Given the description of an element on the screen output the (x, y) to click on. 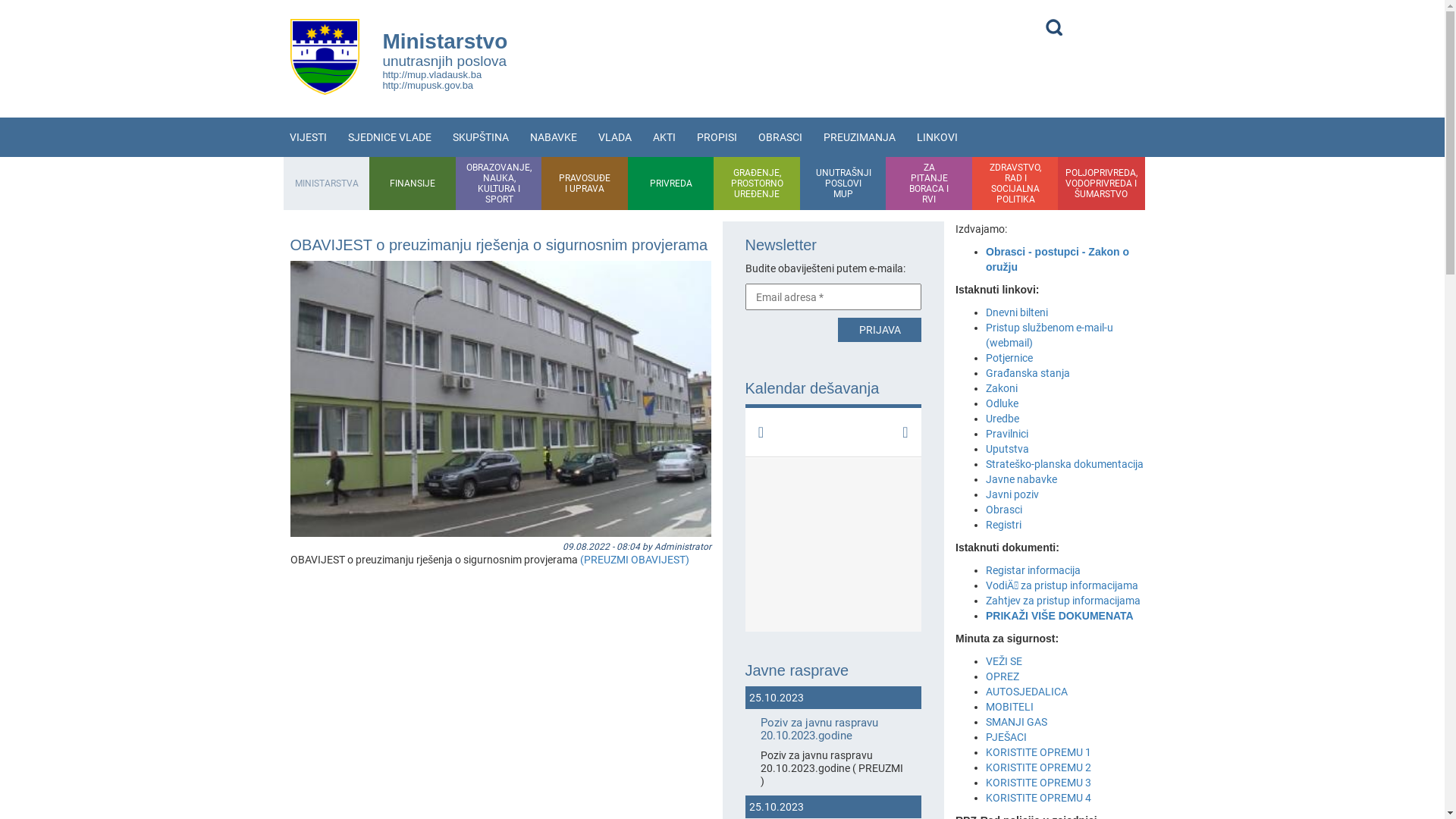
ZDRAVSTVO, RAD I SOCIJALNA POLITIKA Element type: text (1015, 183)
PROPISI Element type: text (715, 136)
Zakoni Element type: text (1001, 388)
KORISTITE OPREMU 1 Element type: text (1038, 752)
Javne rasprave Element type: text (832, 670)
KORISTITE OPREMU 4 Element type: text (1038, 797)
OPREZ Element type: text (1002, 676)
Obrasci Element type: text (1003, 509)
KORISTITE OPREMU 3 Element type: text (1038, 782)
Pravilnici Element type: text (1006, 433)
Dnevni bilteni Element type: text (1016, 312)
LINKOVI Element type: text (936, 136)
OBRASCI Element type: text (779, 136)
(PREUZMI OBAVIJEST) Element type: text (633, 559)
FINANSIJE Element type: text (412, 183)
ZA PITANJE BORACA I RVI Element type: text (928, 183)
http://mup.vladausk.ba
http://mupusk.gov.ba Element type: text (431, 80)
SJEDNICE VLADE Element type: text (388, 136)
Registar informacija Element type: text (1032, 570)
Zahtjev za pristup informacijama  Element type: text (1063, 600)
SMANJI GAS Element type: text (1016, 721)
MINISTARSTVA Element type: text (326, 183)
KORISTITE OPREMU 2 Element type: text (1038, 767)
OBRAZOVANJE, NAUKA, KULTURA I SPORT Element type: text (498, 183)
Javne nabavke Element type: text (1021, 479)
Odluke Element type: text (1001, 403)
PREUZIMANJA Element type: text (859, 136)
PRIVREDA Element type: text (670, 183)
Poziv za javnu raspravu 20.10.2023.godine Element type: text (832, 728)
Registri Element type: text (1003, 524)
PRIJAVA Element type: text (879, 329)
NABAVKE Element type: text (552, 136)
Javni poziv Element type: text (1011, 494)
Uredbe Element type: text (1002, 418)
AUTOSJEDALICA Element type: text (1026, 691)
MOBITELI Element type: text (1009, 706)
Potjernice Element type: text (1008, 357)
AKTI Element type: text (663, 136)
VIJESTI Element type: text (308, 136)
Uputstva Element type: text (1007, 448)
VLADA Element type: text (613, 136)
